Given the description of an element on the screen output the (x, y) to click on. 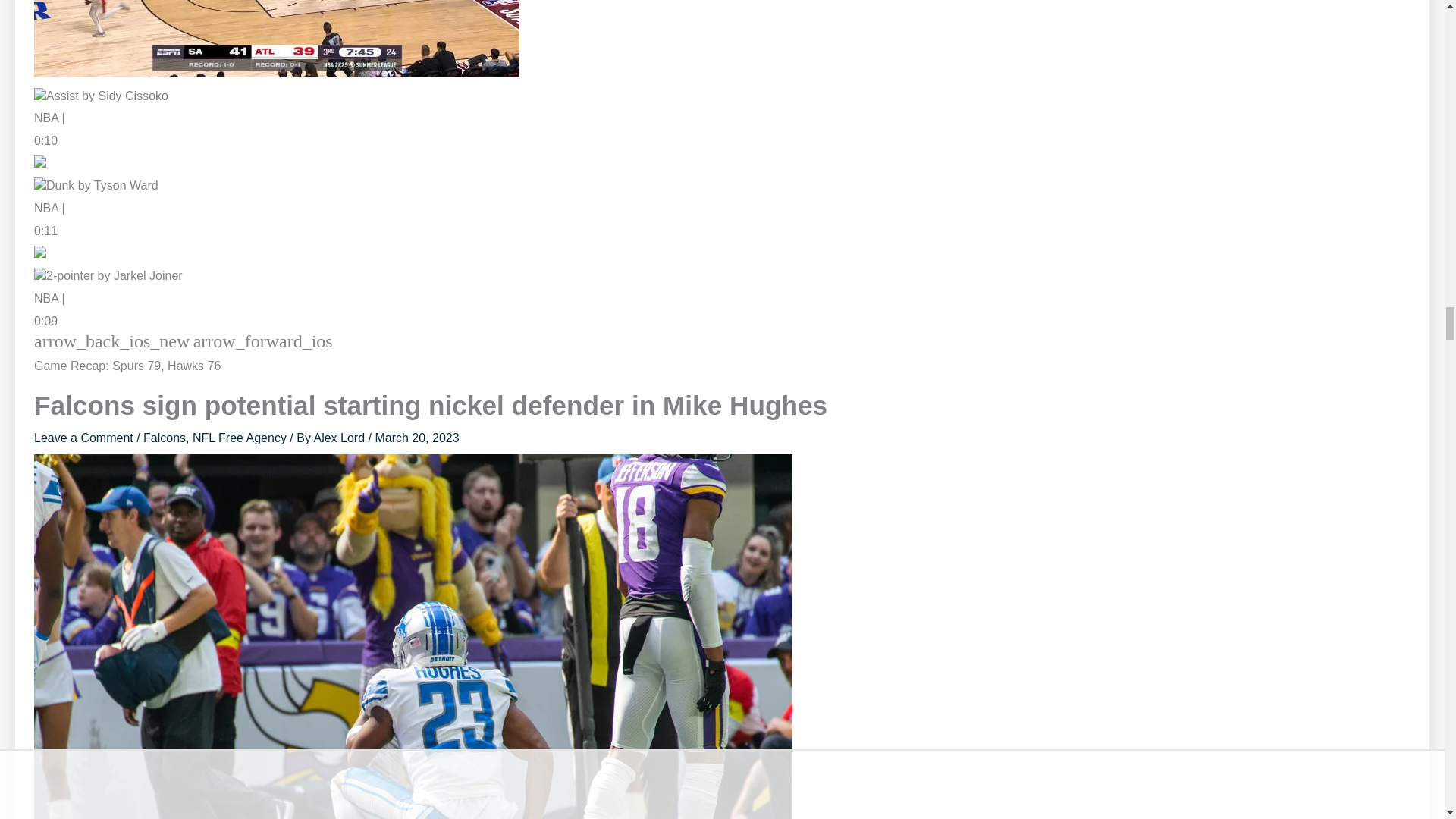
View all posts by Alex Lord (340, 437)
